Given the description of an element on the screen output the (x, y) to click on. 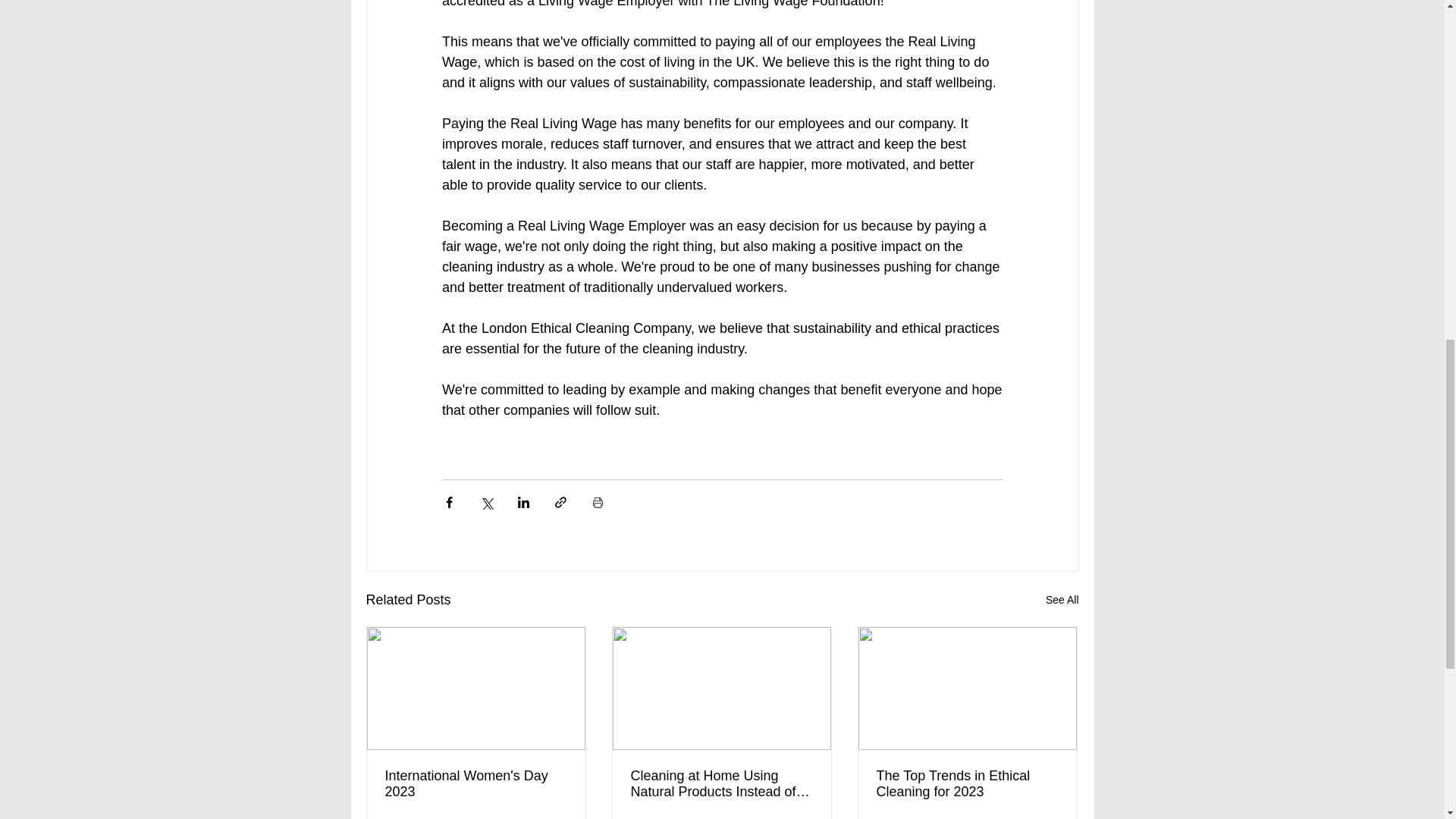
International Women's Day 2023 (476, 784)
See All (1061, 599)
The Top Trends in Ethical Cleaning for 2023 (967, 784)
